Given the description of an element on the screen output the (x, y) to click on. 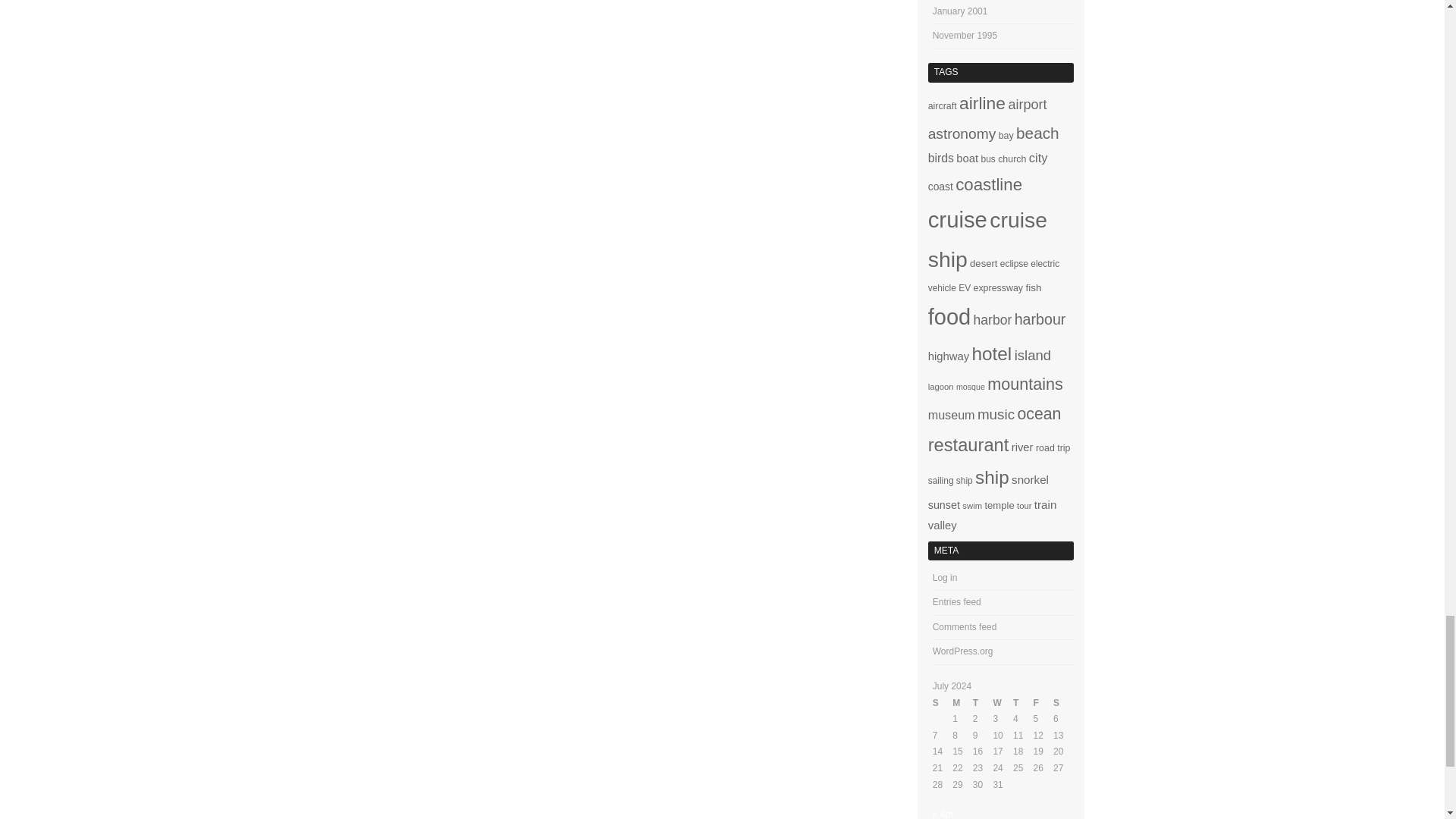
Monday (962, 703)
Thursday (1023, 703)
Friday (1043, 703)
Saturday (1063, 703)
Sunday (943, 703)
Wednesday (1002, 703)
Tuesday (982, 703)
